Given the description of an element on the screen output the (x, y) to click on. 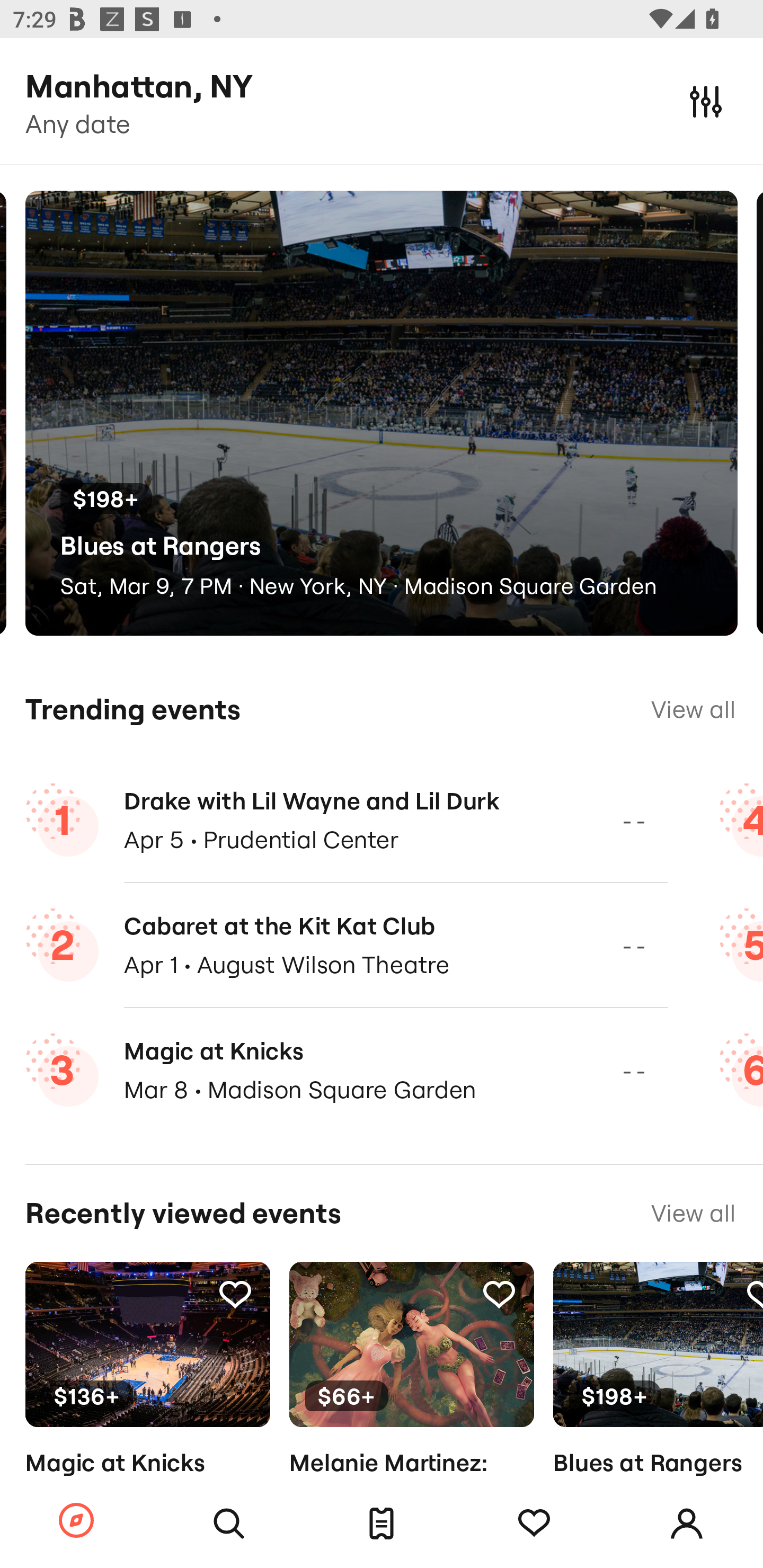
Filters (705, 100)
View all (693, 709)
View all (693, 1213)
Tracking $136+ Magic at Knicks Tomorrow · 7:30 PM (147, 1399)
Tracking $198+ Blues at Rangers Sat, Mar 9, 7 PM (658, 1399)
Tracking (234, 1293)
Tracking (498, 1293)
Browse (76, 1521)
Search (228, 1523)
Tickets (381, 1523)
Tracking (533, 1523)
Account (686, 1523)
